Given the description of an element on the screen output the (x, y) to click on. 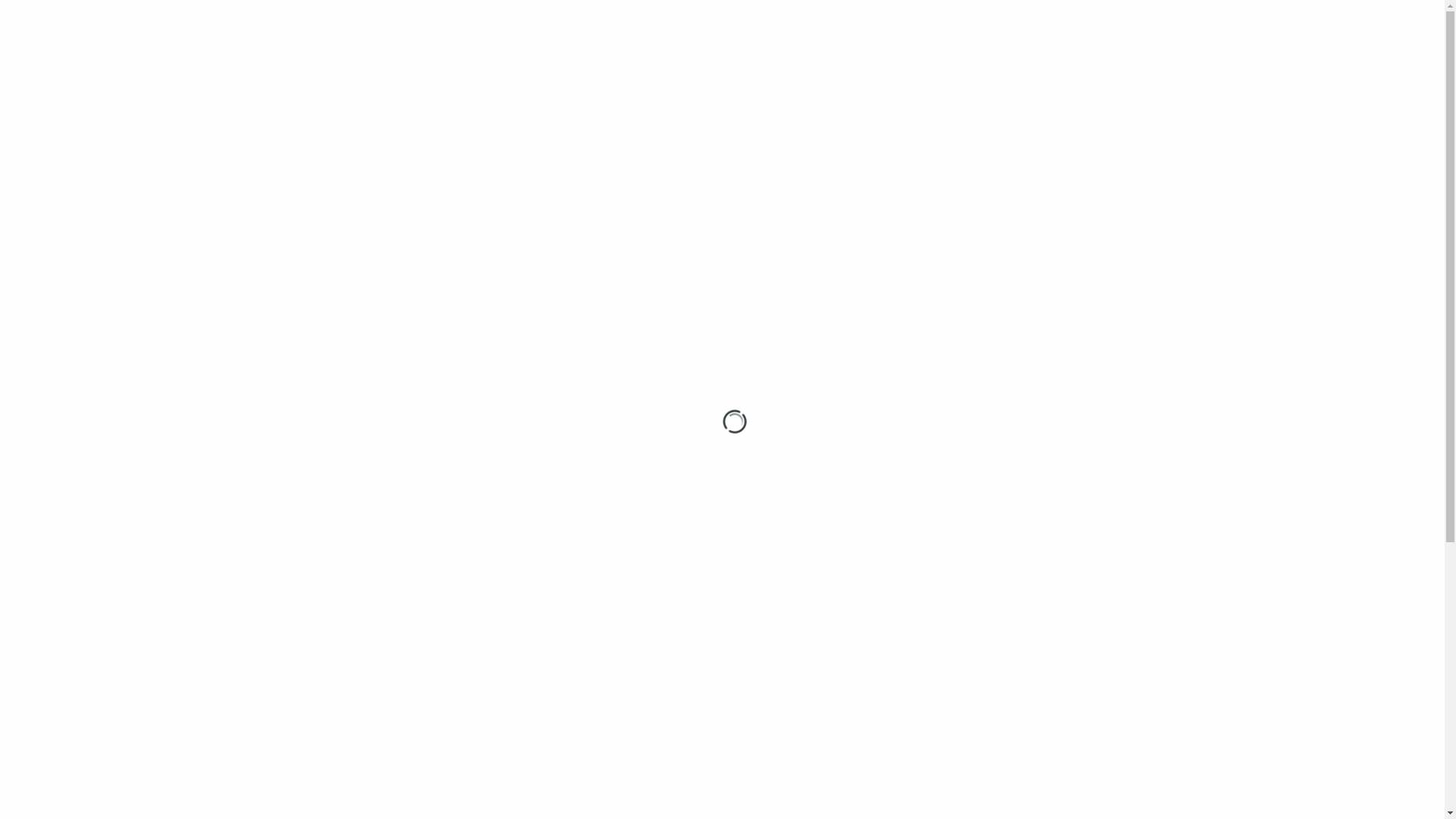
Aktual Element type: text (295, 429)
Twitter Element type: hover (287, 685)
Aktual Element type: text (293, 392)
